Given the description of an element on the screen output the (x, y) to click on. 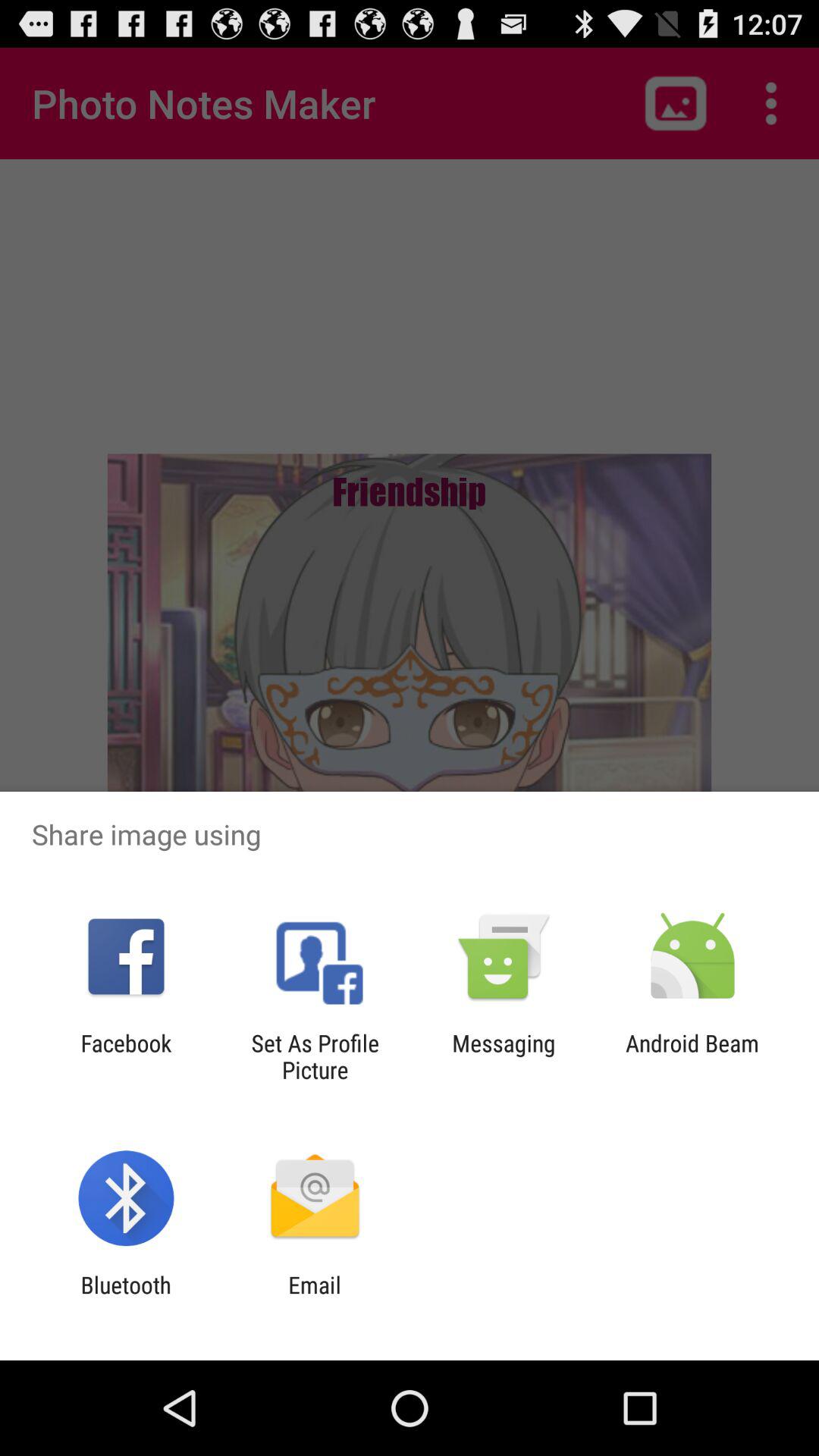
turn on the app next to set as profile app (125, 1056)
